Given the description of an element on the screen output the (x, y) to click on. 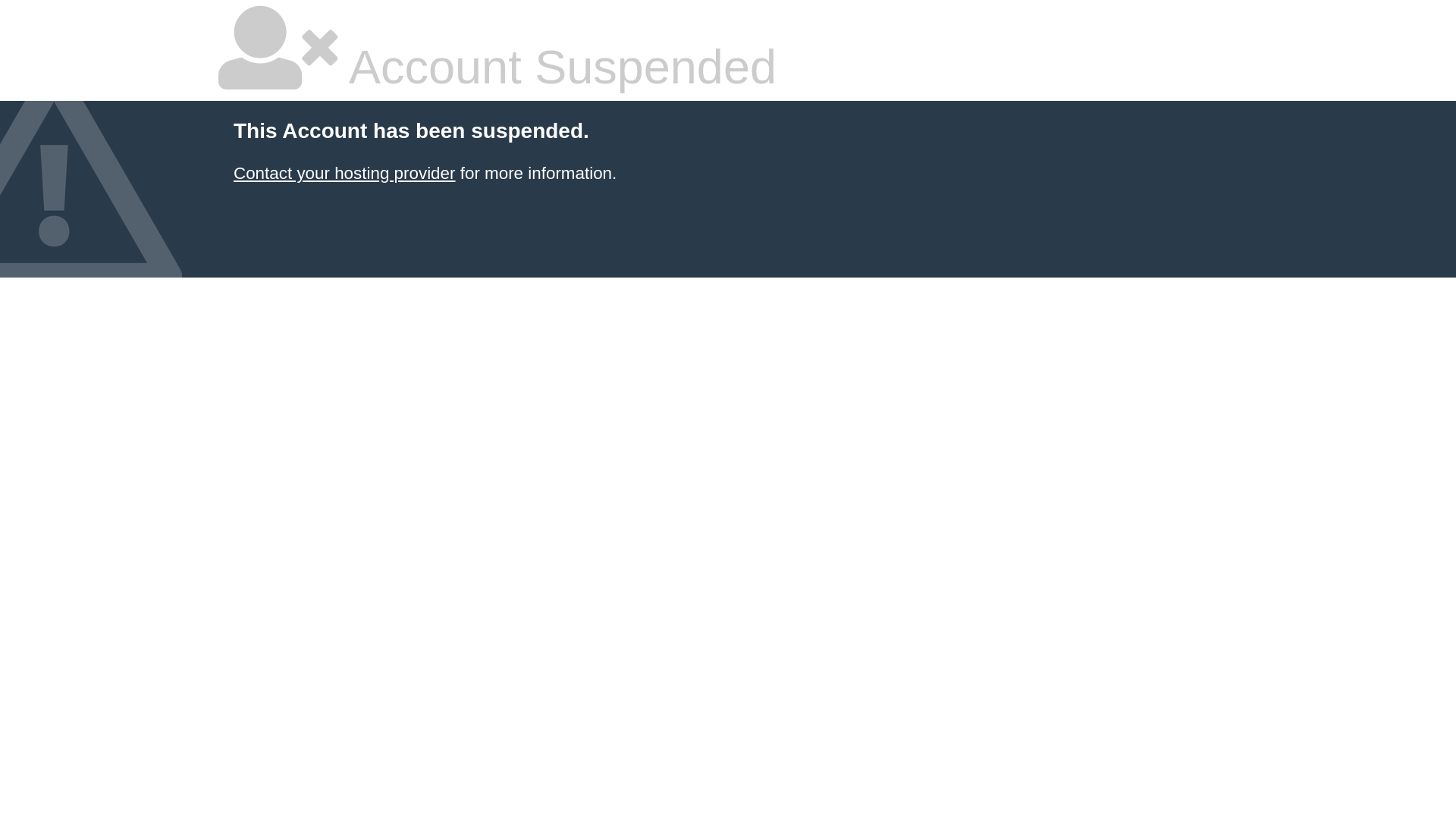
Contact your hosting provider Element type: text (344, 172)
